Given the description of an element on the screen output the (x, y) to click on. 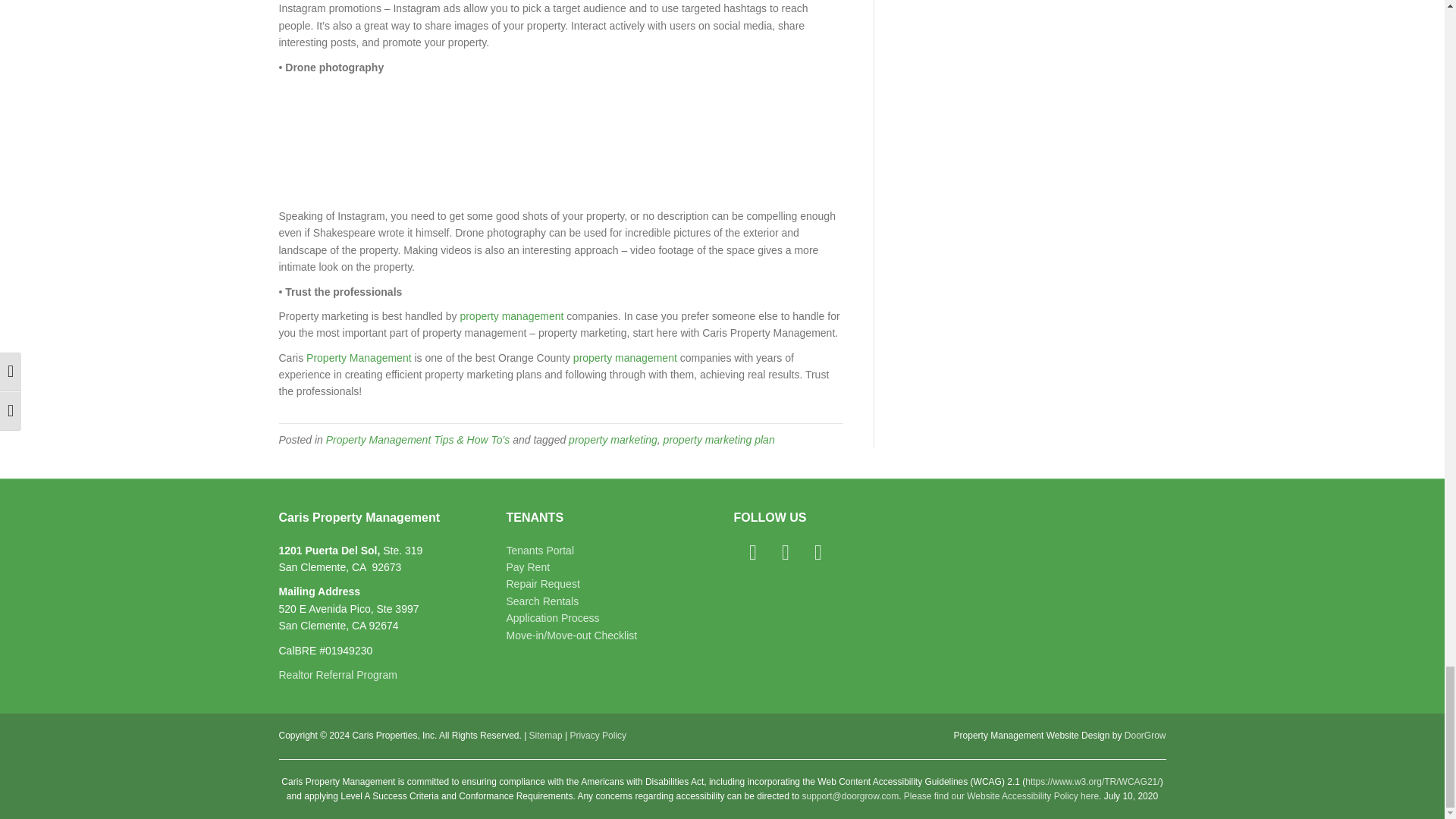
property marketing (613, 439)
Property Management (358, 357)
property management (625, 357)
property management (511, 316)
